Given the description of an element on the screen output the (x, y) to click on. 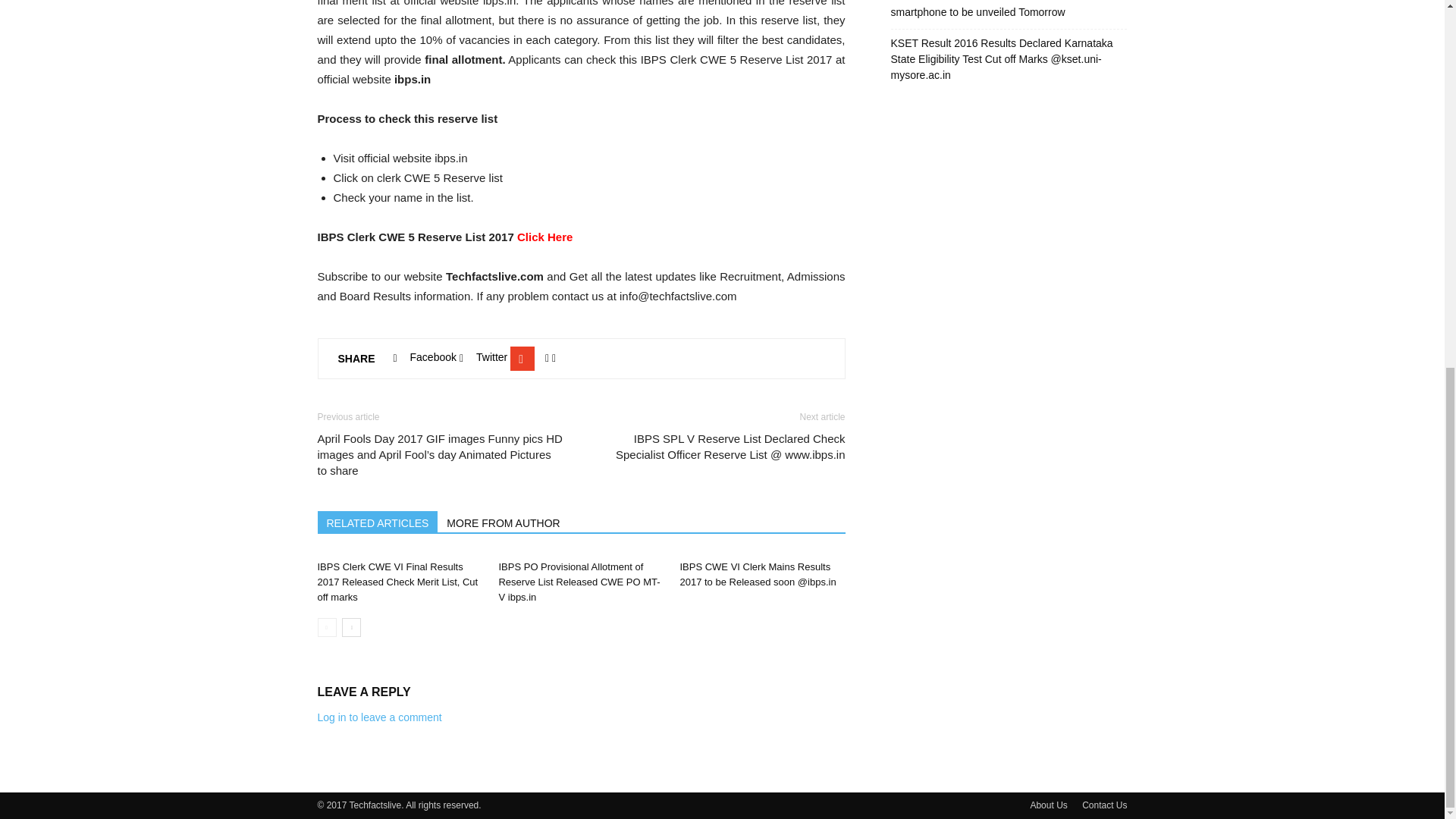
MORE FROM AUTHOR (503, 521)
RELATED ARTICLES (377, 521)
